Given the description of an element on the screen output the (x, y) to click on. 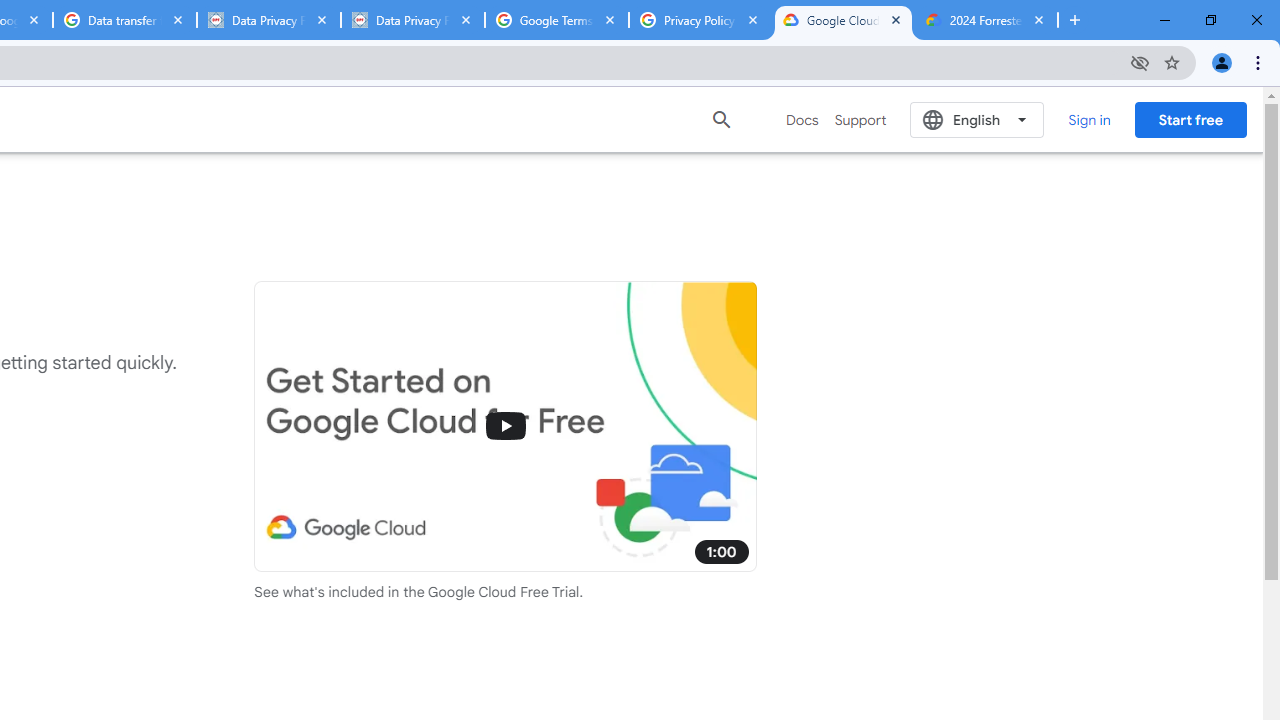
Docs (802, 119)
Start free (1190, 119)
Support (860, 119)
Data Privacy Framework (268, 20)
